Given the description of an element on the screen output the (x, y) to click on. 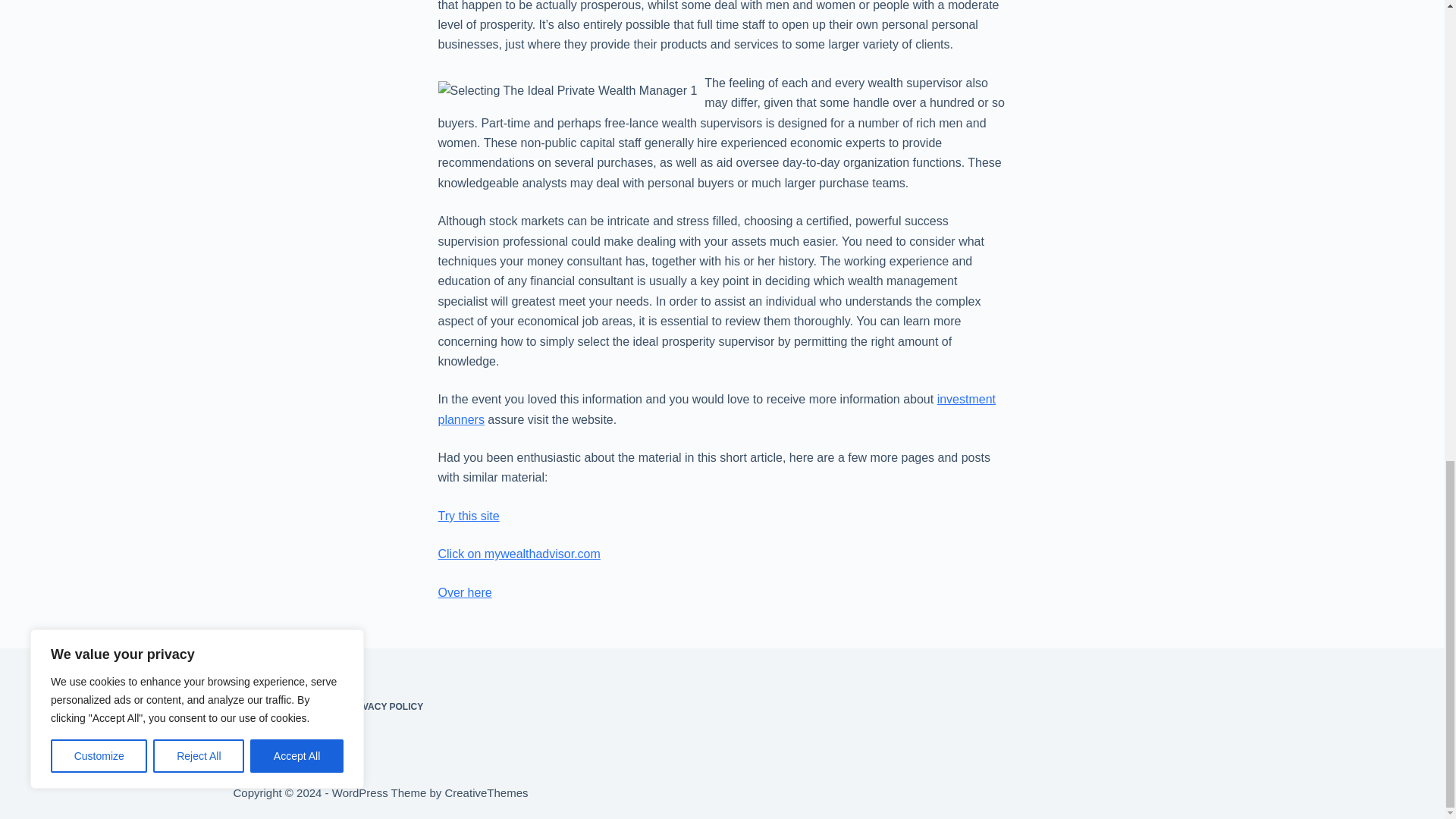
CONTACT (306, 707)
Over here (465, 592)
ABOUT (249, 707)
CreativeThemes (485, 792)
investment planners (716, 409)
Click on mywealthadvisor.com (518, 553)
PRIVACY POLICY (384, 707)
Try this site (468, 515)
